Given the description of an element on the screen output the (x, y) to click on. 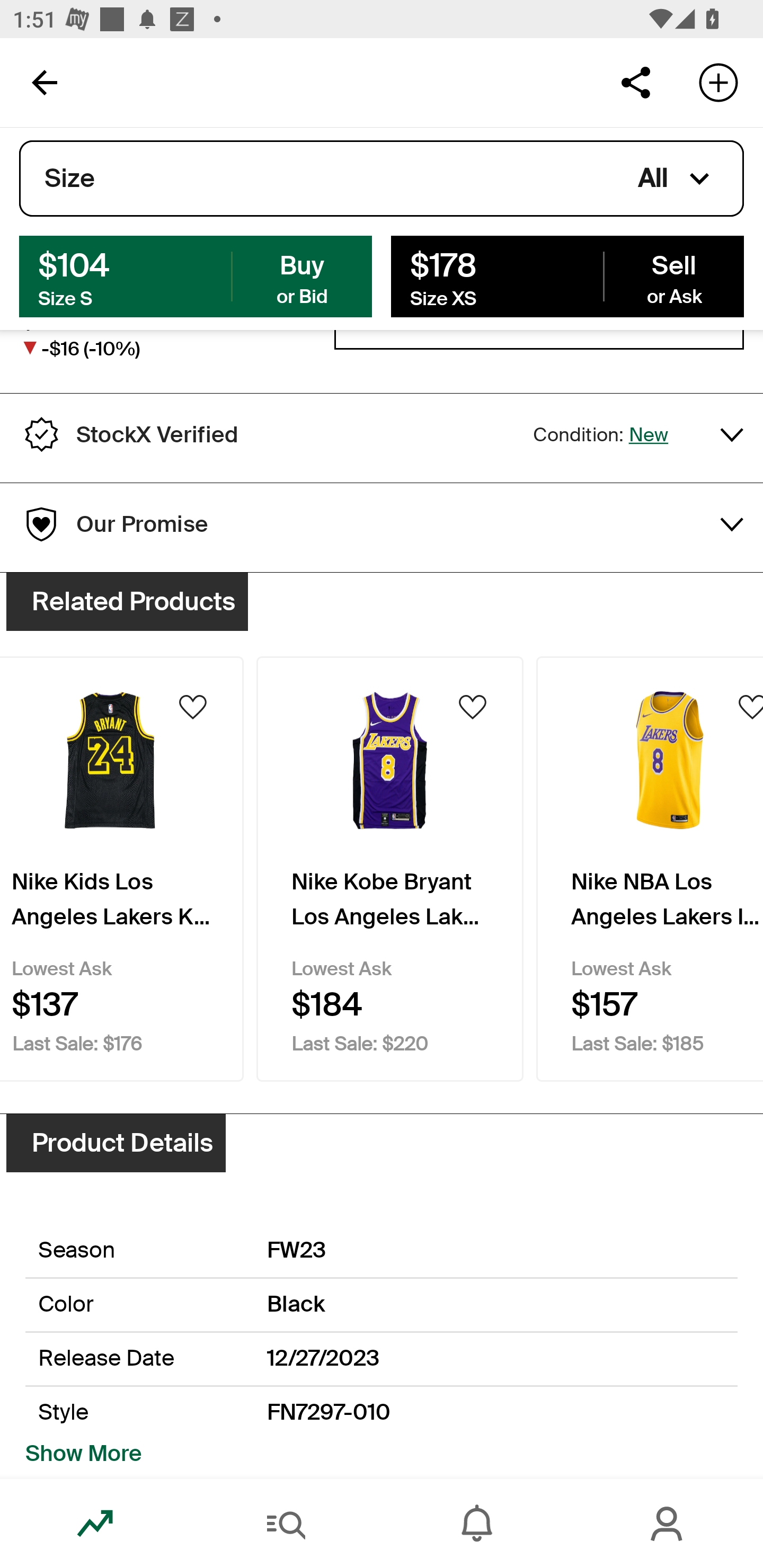
Share (635, 81)
Add (718, 81)
Size All (381, 178)
$104 Buy Size S or Bid (195, 275)
$178 Sell Size XS or Ask (566, 275)
View Market Data (538, 344)
Show More (83, 1453)
Search (285, 1523)
Inbox (476, 1523)
Account (667, 1523)
